Given the description of an element on the screen output the (x, y) to click on. 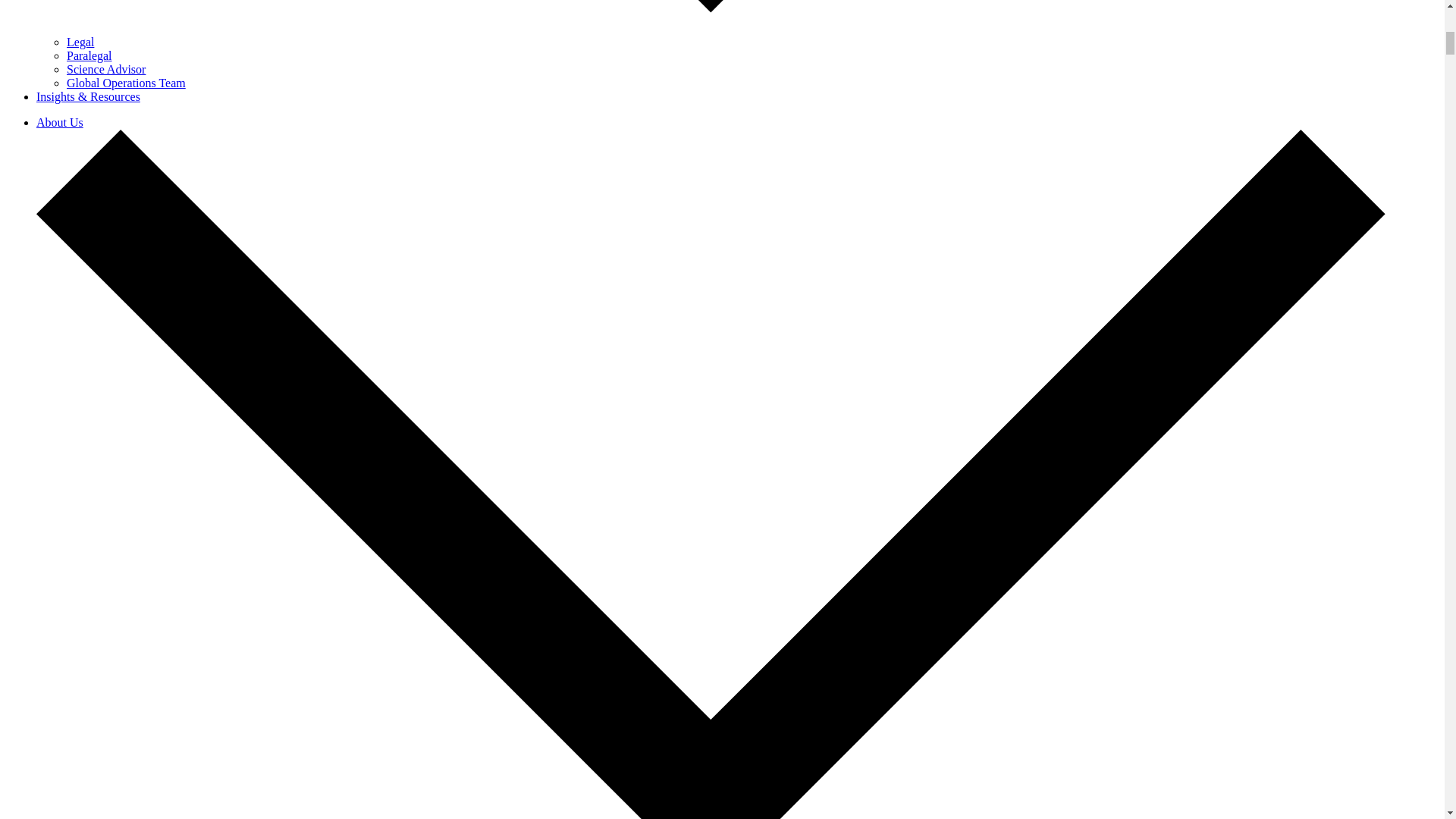
Paralegal (89, 55)
Science Advisor (105, 69)
Legal (80, 42)
Global Operations Team (126, 82)
